Given the description of an element on the screen output the (x, y) to click on. 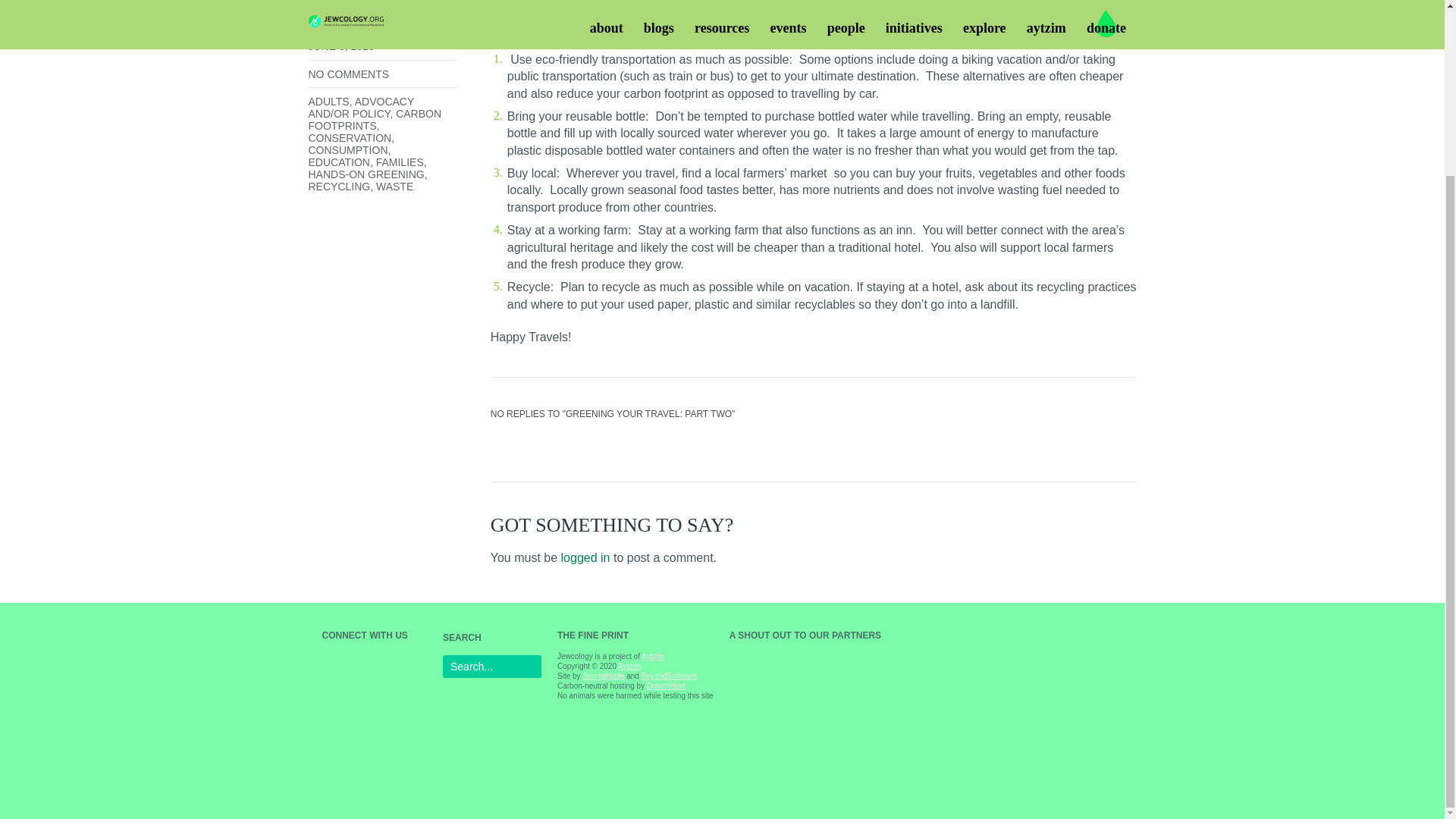
WASTE (394, 186)
CONSUMPTION (347, 150)
HANDS-ON GREENING (365, 174)
NO COMMENTS (347, 73)
RECYCLING (338, 186)
CONSERVATION (349, 137)
Aytzim (652, 655)
EDUCATION (338, 162)
ADULTS (328, 101)
logged in (585, 557)
